Given the description of an element on the screen output the (x, y) to click on. 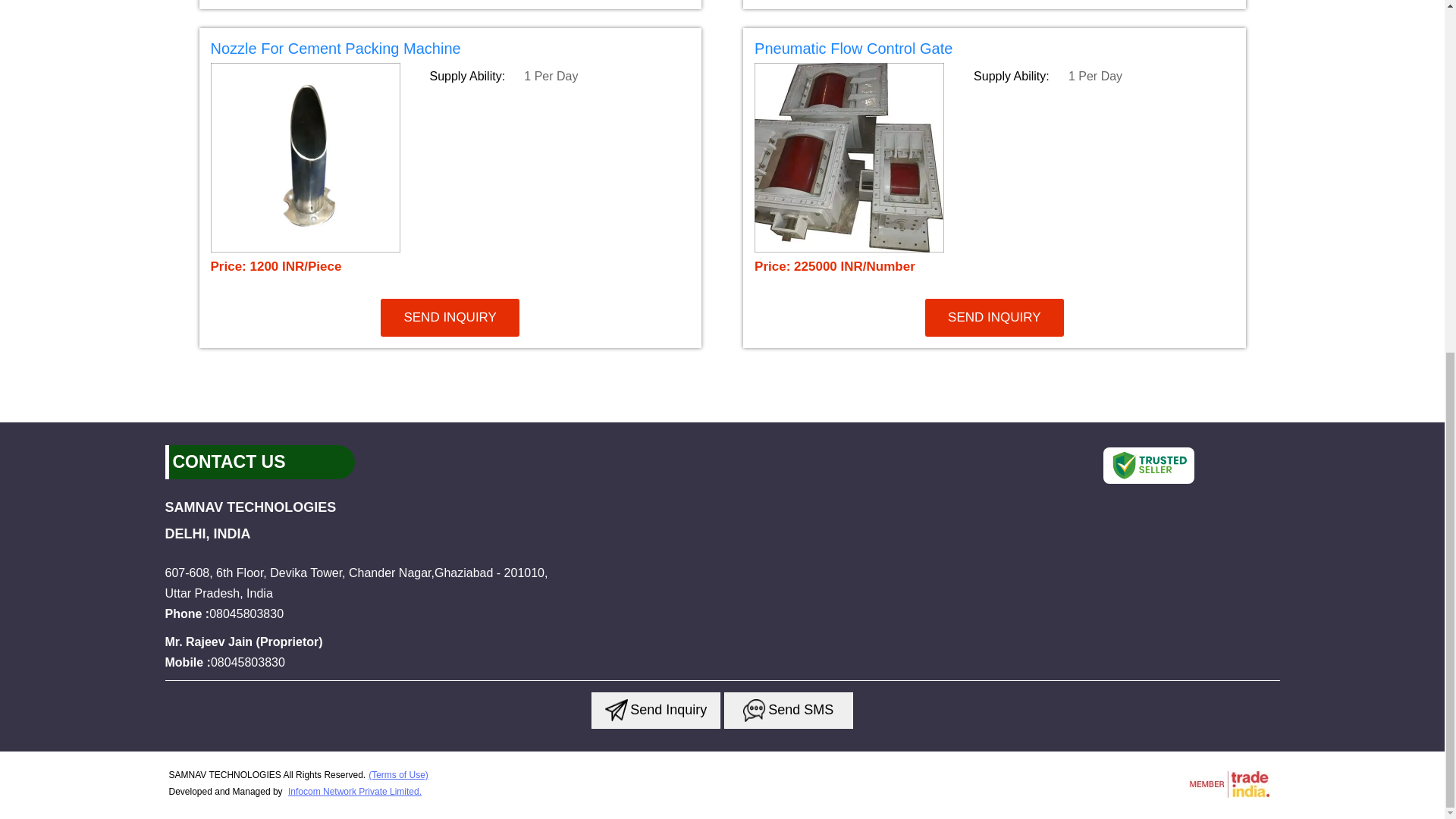
Nozzle For Cement Packing Machine (336, 48)
Send Inquiry (753, 710)
Pneumatic Flow Control Gate (853, 48)
Send Inquiry (616, 710)
Supply Ability: 1 Per Day (558, 76)
Supply Ability: 1 Per Day (1103, 76)
SEND INQUIRY (994, 317)
SEND INQUIRY (449, 317)
Nozzle For Cement Packing Machine (450, 51)
Send SMS (788, 709)
